Given the description of an element on the screen output the (x, y) to click on. 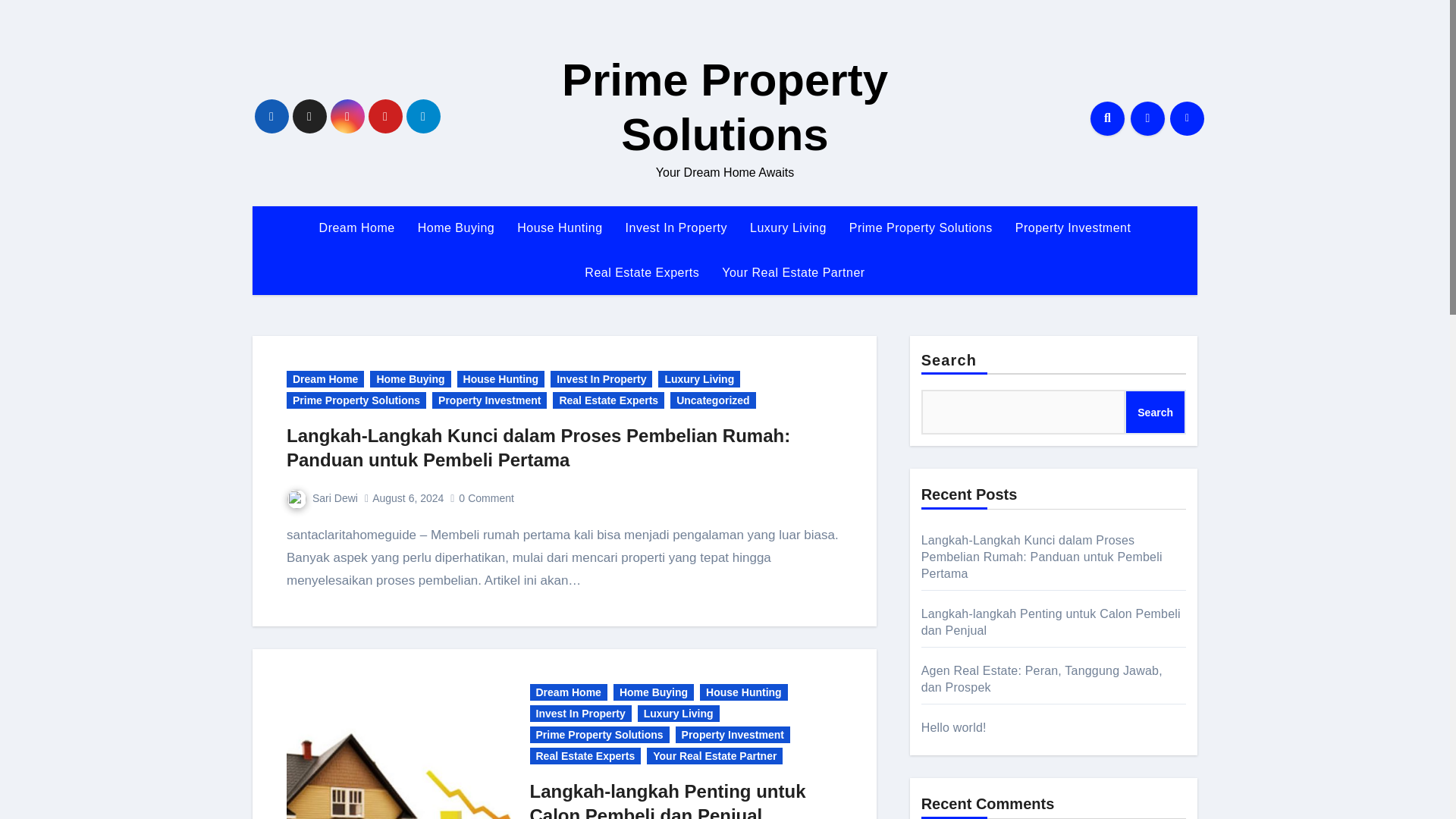
Prime Property Solutions (921, 228)
0Comment (487, 498)
Uncategorized (712, 400)
Real Estate Experts (641, 272)
Home Buying (653, 692)
Invest In Property (676, 228)
Property Investment (489, 400)
Luxury Living (788, 228)
Real Estate Experts (608, 400)
